Given the description of an element on the screen output the (x, y) to click on. 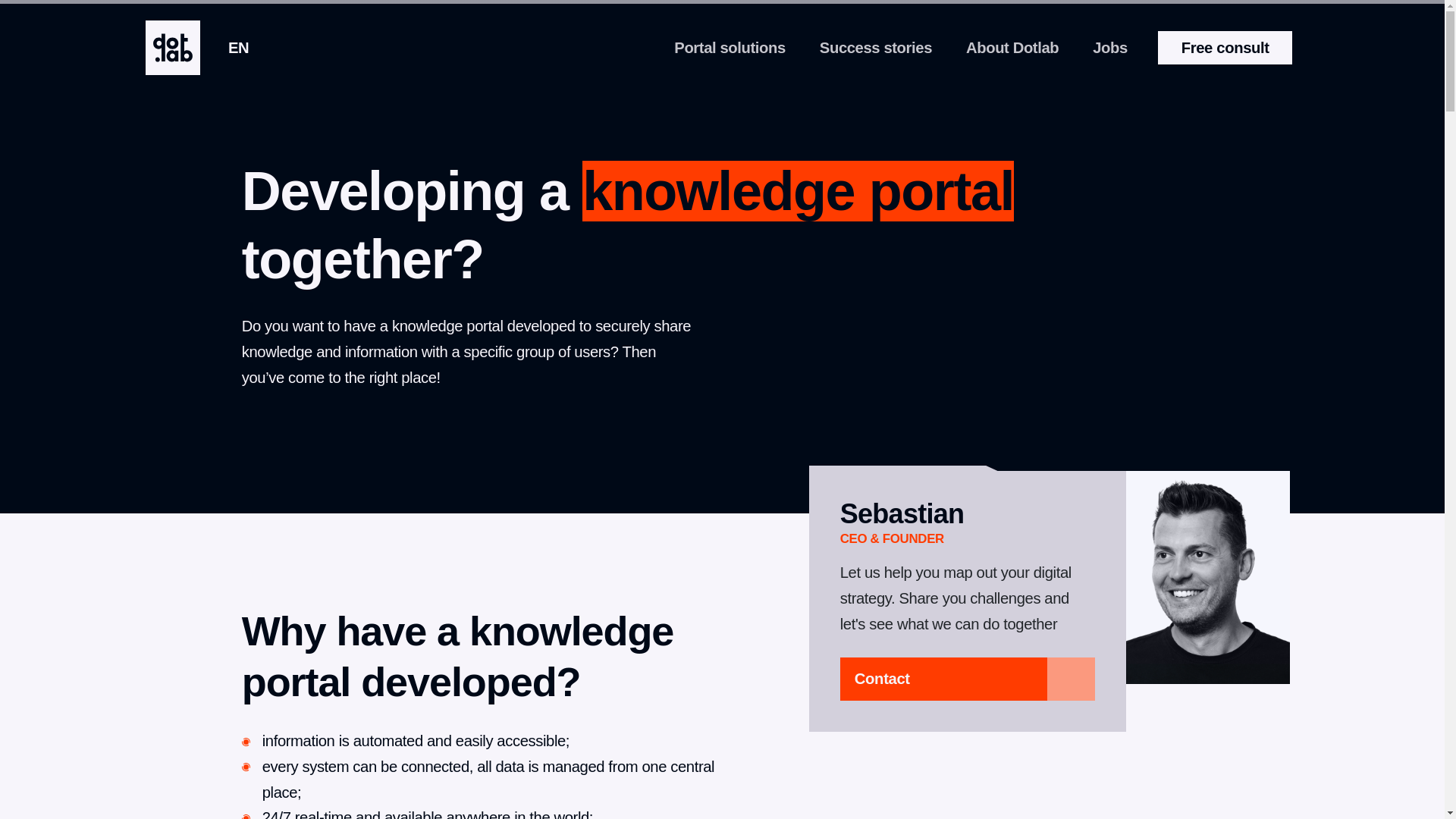
Free consult (1224, 47)
Jobs (1109, 47)
Contact (968, 679)
Portal solutions (730, 47)
About Dotlab (1012, 47)
Success stories (875, 47)
